Given the description of an element on the screen output the (x, y) to click on. 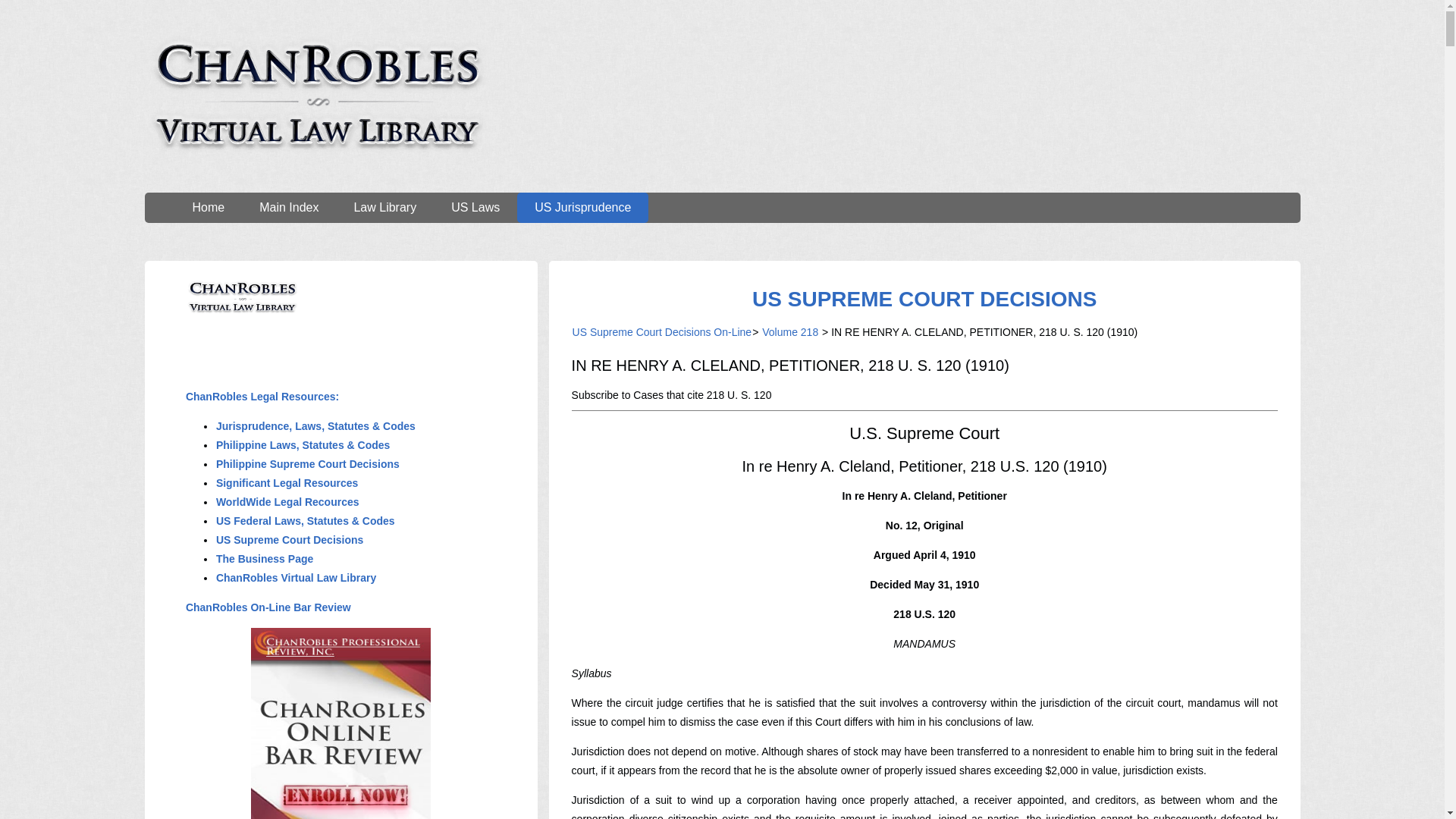
US Supreme Court Decisions On-Line (662, 331)
US Jurisprudence (581, 207)
United States Supreme Court Decisions - On-Line (924, 299)
US SUPREME COURT DECISIONS (924, 299)
WorldWide Legal Recources (287, 501)
The Business Page (264, 558)
US Laws (474, 207)
ChanRobles Virtual Law Library (296, 577)
Philippine Supreme Court Decisions (307, 463)
US Supreme Court Decisions (290, 539)
ChanRobles On-Line Bar Review (268, 607)
ChanRobles Legal Resources: (261, 396)
Law Library (384, 207)
Significant Legal Resources (287, 482)
Volume 218 (789, 331)
